Given the description of an element on the screen output the (x, y) to click on. 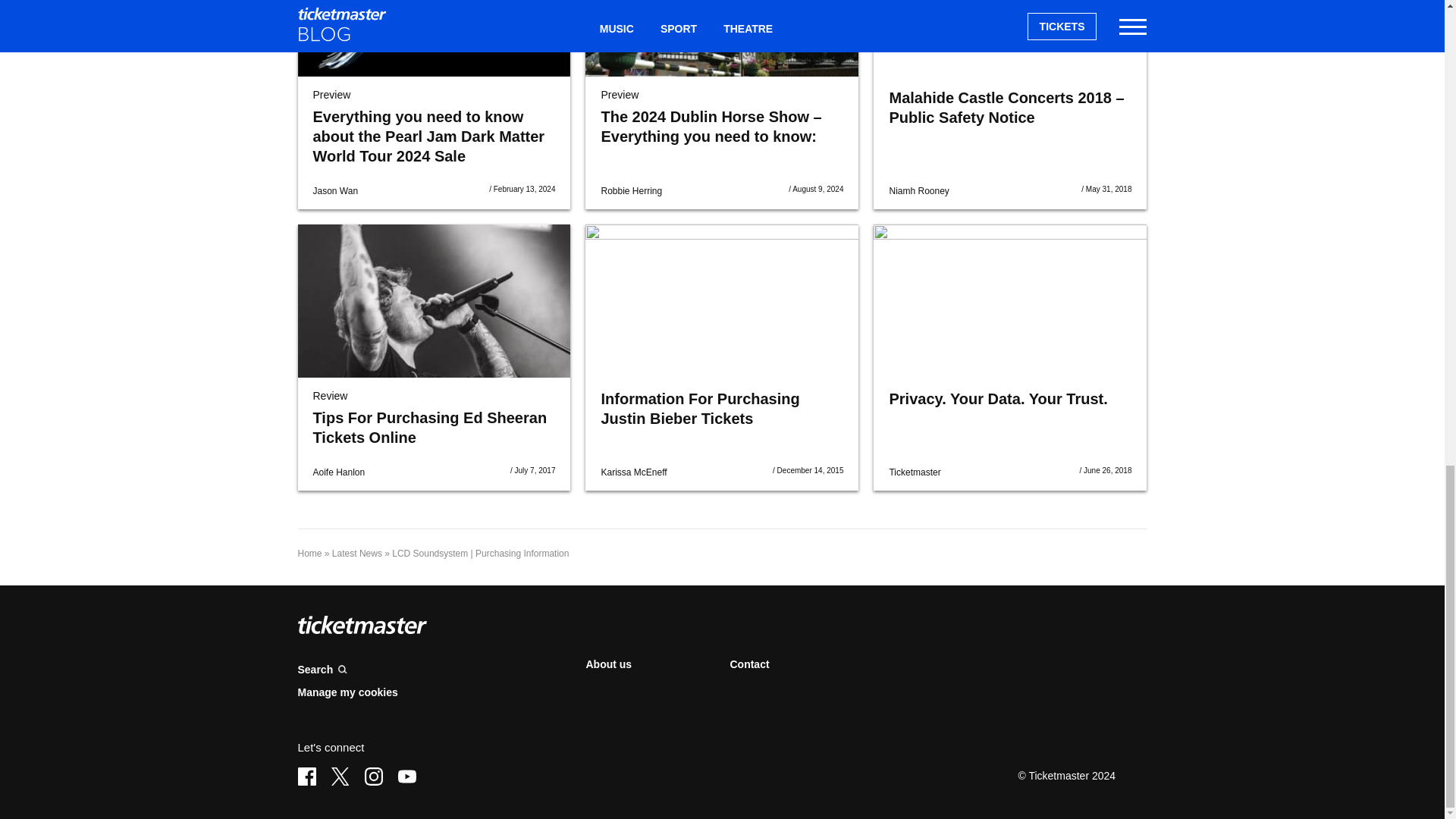
Privacy. Your Data. Your Trust. (997, 398)
Information For Purchasing Justin Bieber Tickets (699, 408)
Instagram (372, 776)
Latest News (356, 552)
Privacy. Your Data. Your Trust. (1010, 300)
Facebook (306, 776)
Twitter (339, 776)
Contact (748, 664)
Tips For Purchasing Ed Sheeran Tickets Online (433, 300)
